Given the description of an element on the screen output the (x, y) to click on. 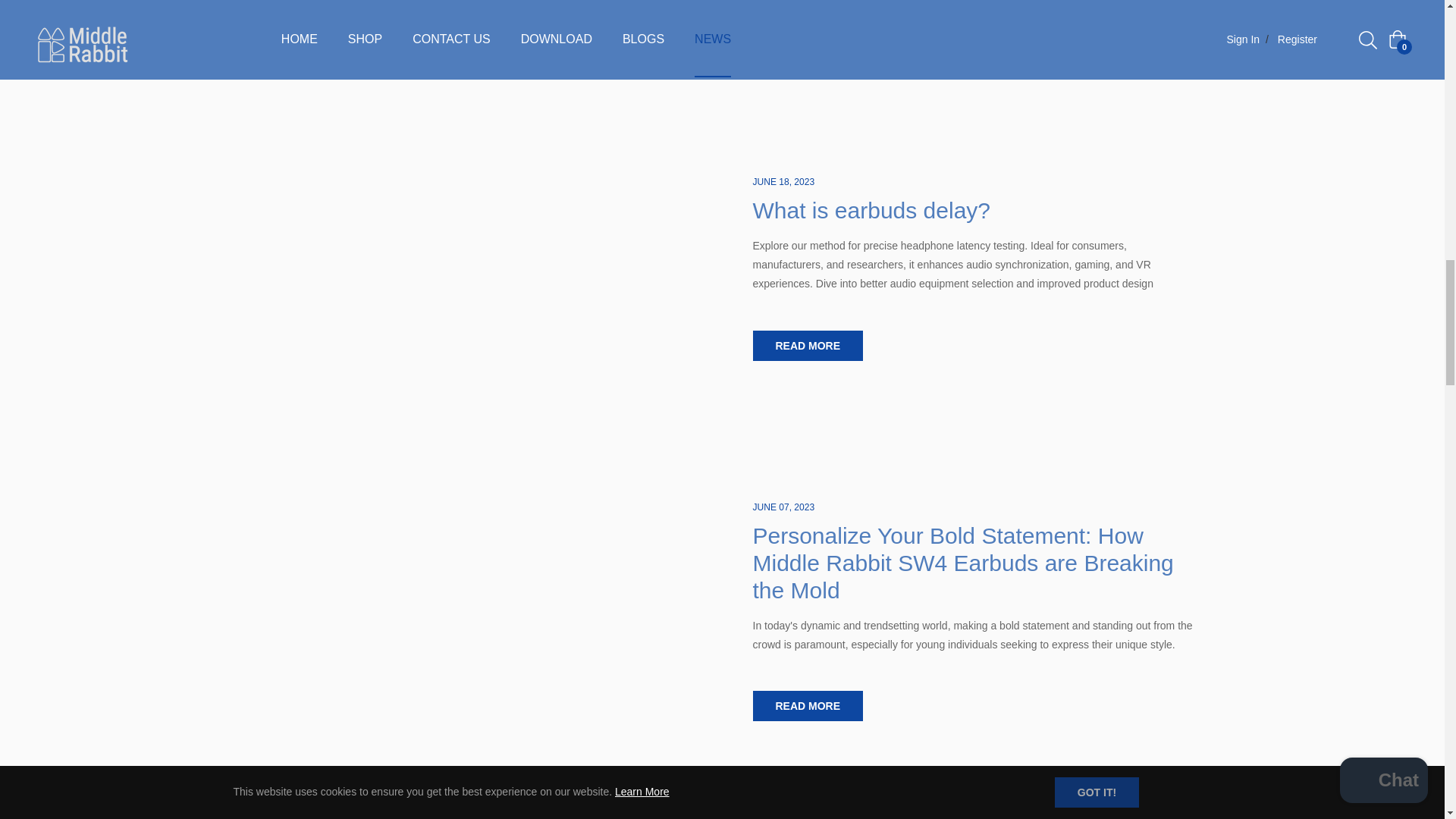
READ MORE (807, 706)
What is earbuds delay? (871, 210)
READ MORE (807, 345)
